Given the description of an element on the screen output the (x, y) to click on. 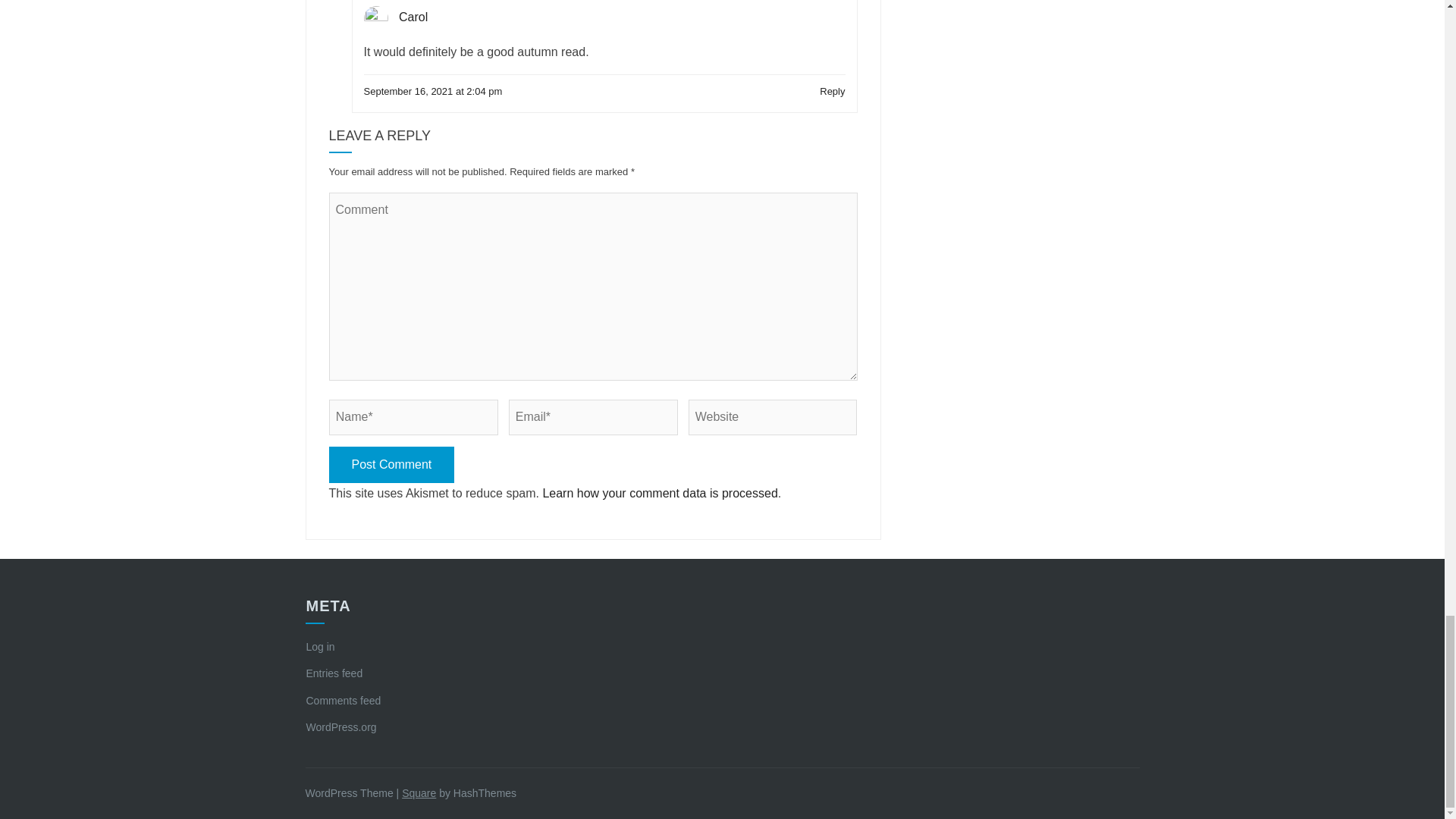
Post Comment (391, 465)
